Given the description of an element on the screen output the (x, y) to click on. 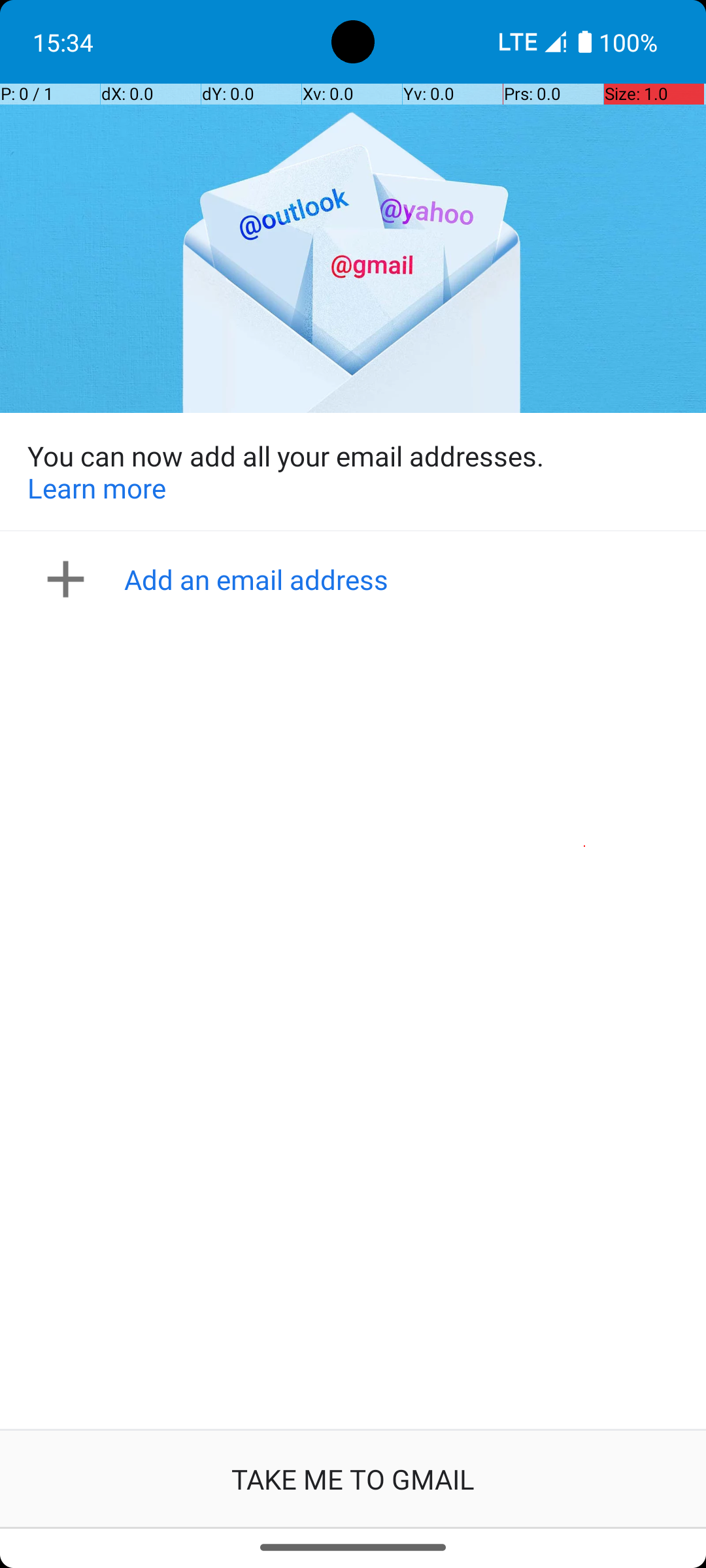
You can now add all your email addresses. Learn more Element type: android.widget.TextView (352, 471)
TAKE ME TO GMAIL Element type: android.widget.TextView (353, 1478)
Add an email address Element type: android.widget.TextView (356, 579)
